Given the description of an element on the screen output the (x, y) to click on. 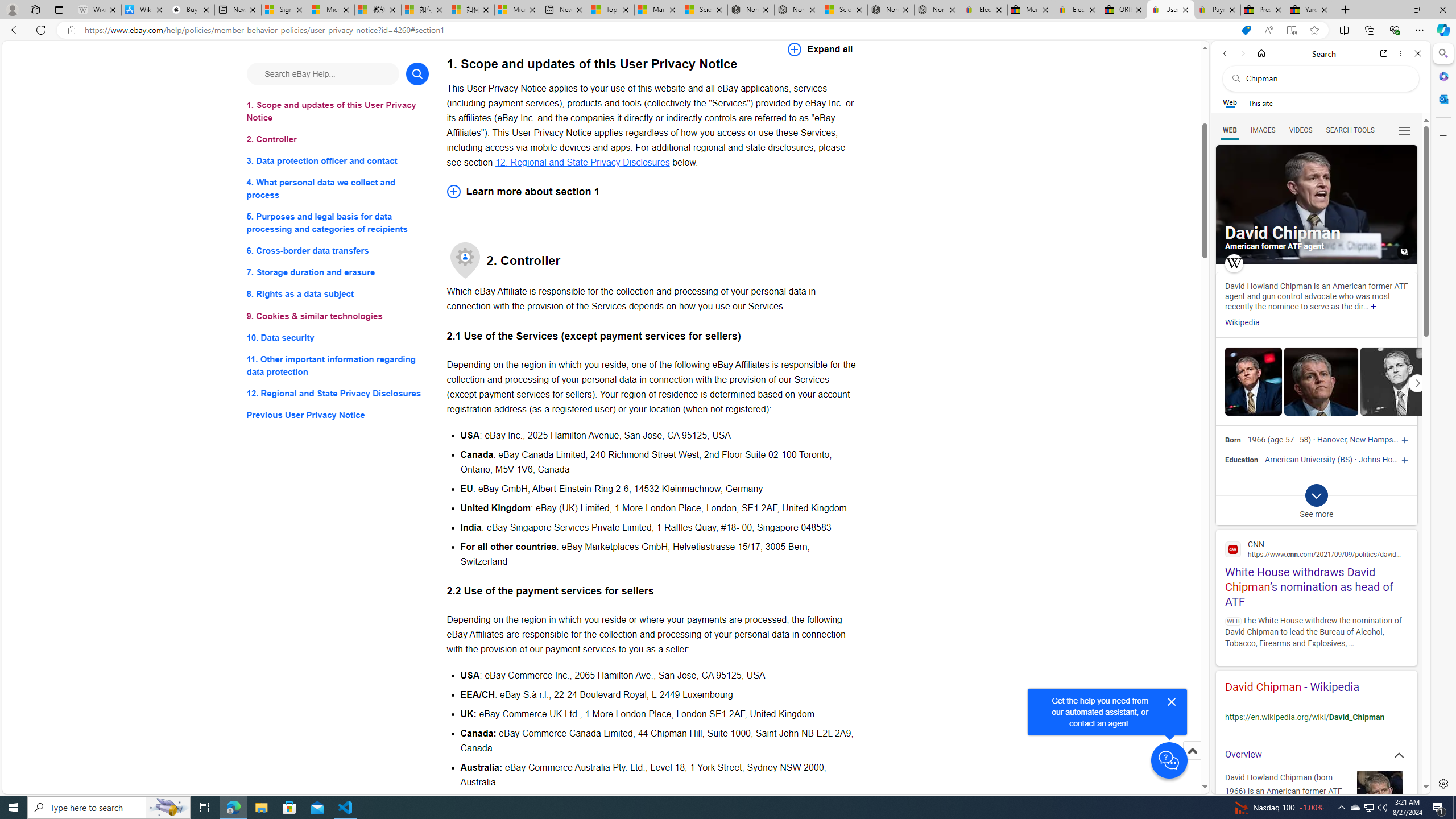
WEB   (1230, 130)
